Given the description of an element on the screen output the (x, y) to click on. 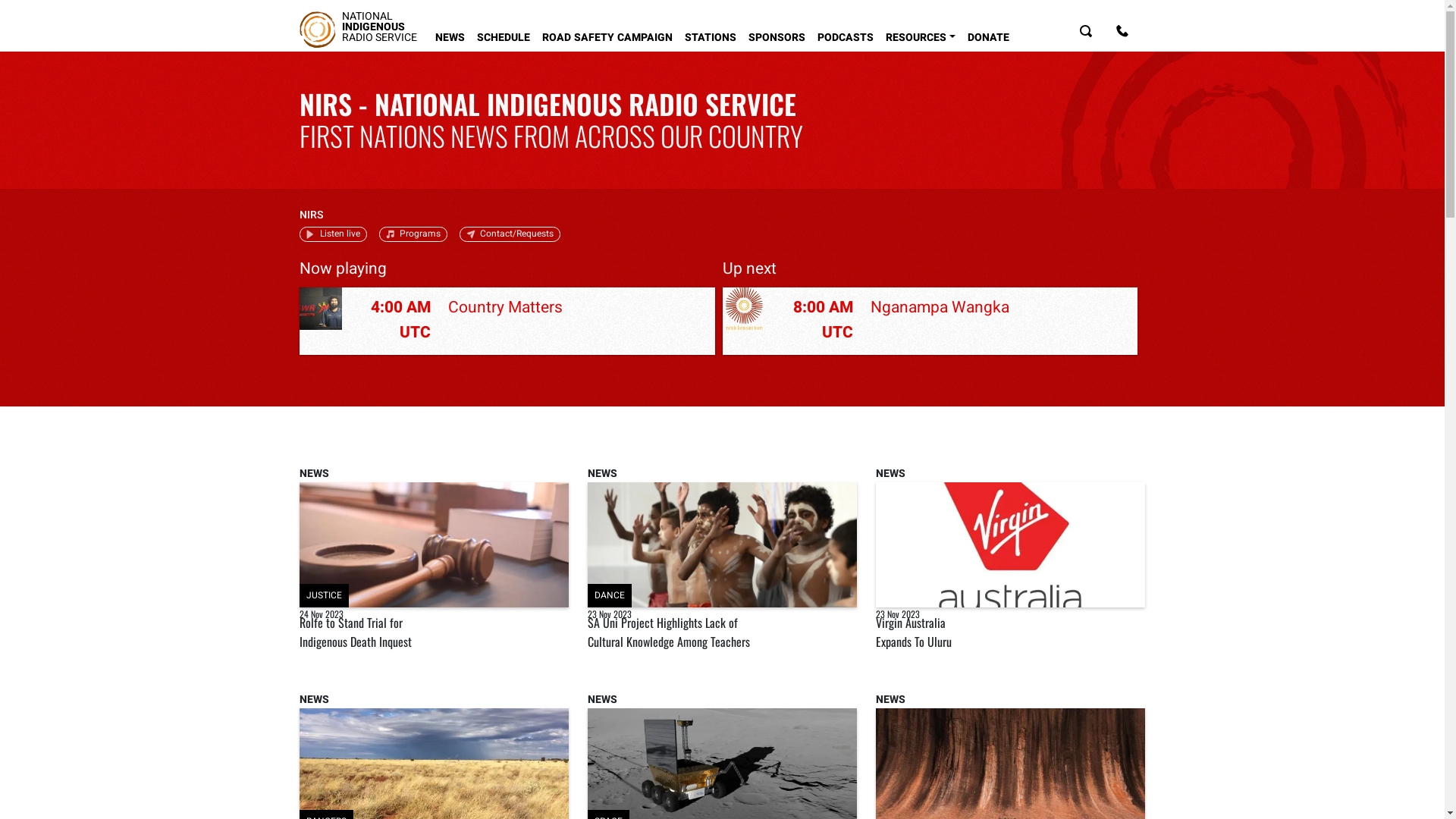
RESOURCES Element type: text (920, 34)
Programs Element type: text (413, 233)
SPONSORS Element type: text (776, 34)
Virgin Australia Expands To Uluru Element type: text (913, 631)
Rolfe to Stand Trial for Indigenous Death Inquest Element type: text (355, 631)
ROAD SAFETY CAMPAIGN Element type: text (607, 34)
NATIONAL
INDIGENOUS
RADIO SERVICE Element type: text (358, 29)
NEWS Element type: text (890, 473)
Listen live Element type: text (333, 233)
STATIONS Element type: text (710, 34)
Search Element type: text (1085, 34)
NEWS Element type: text (602, 699)
NEWS Element type: text (314, 473)
Country Matters
4:00 AM UTC Element type: text (507, 320)
DONATE Element type: text (988, 34)
JUSTICE Element type: text (433, 544)
NEWS Element type: text (602, 473)
Contact/Requests Element type: text (509, 233)
Nganampa Wangka
8:00 AM UTC Element type: text (929, 320)
NEWS Element type: text (449, 34)
NEWS Element type: text (314, 699)
PODCASTS Element type: text (845, 34)
NEWS Element type: text (890, 699)
DANCE Element type: text (721, 544)
SCHEDULE Element type: text (503, 34)
Contact Us Element type: text (1122, 34)
